Given the description of an element on the screen output the (x, y) to click on. 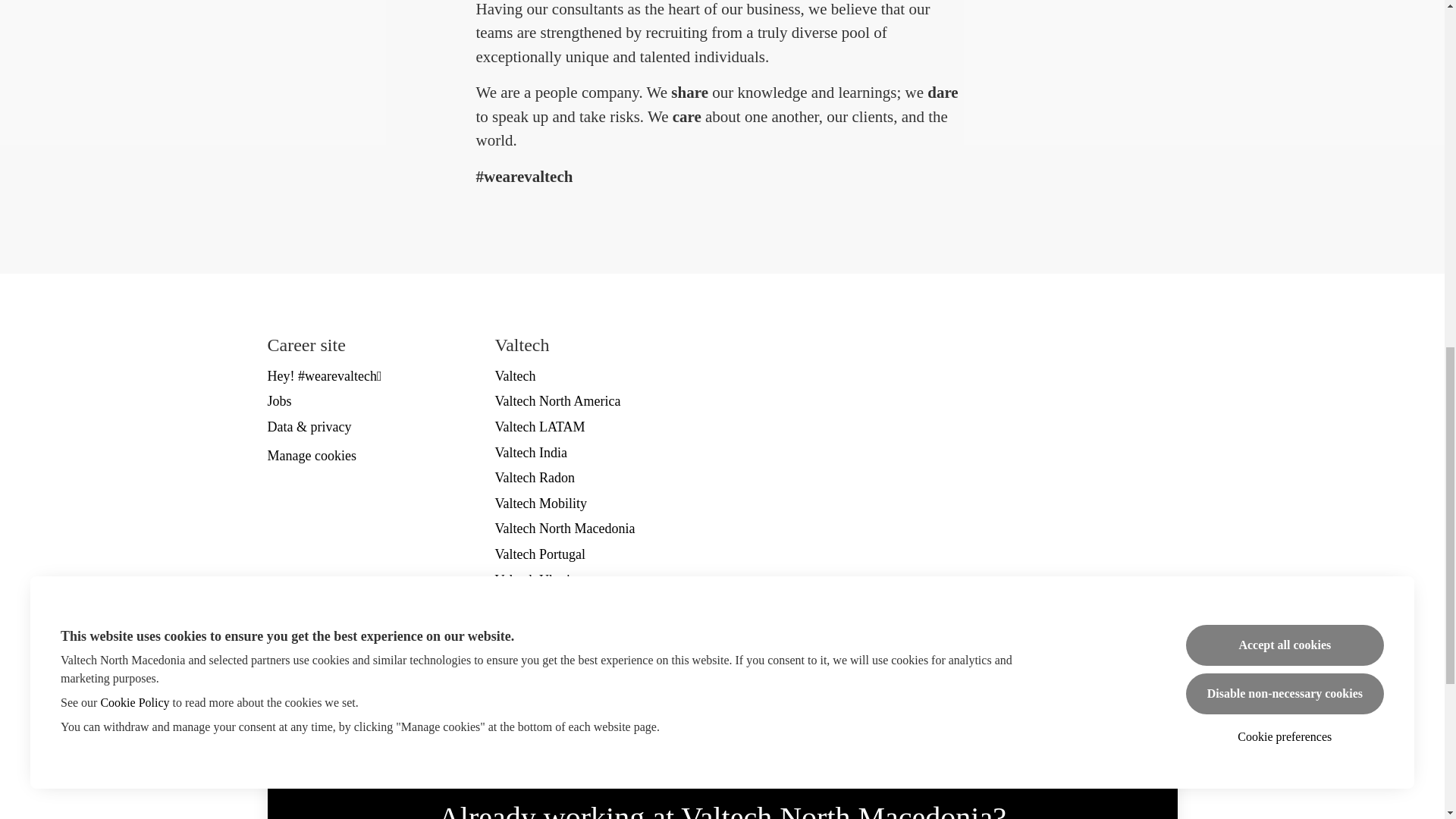
Valtech LATAM (540, 426)
Valtech India (530, 452)
Manage cookies (310, 456)
Valtech Radon (534, 477)
Valtech North America (557, 400)
Jobs (278, 400)
Valtech (515, 375)
